Given the description of an element on the screen output the (x, y) to click on. 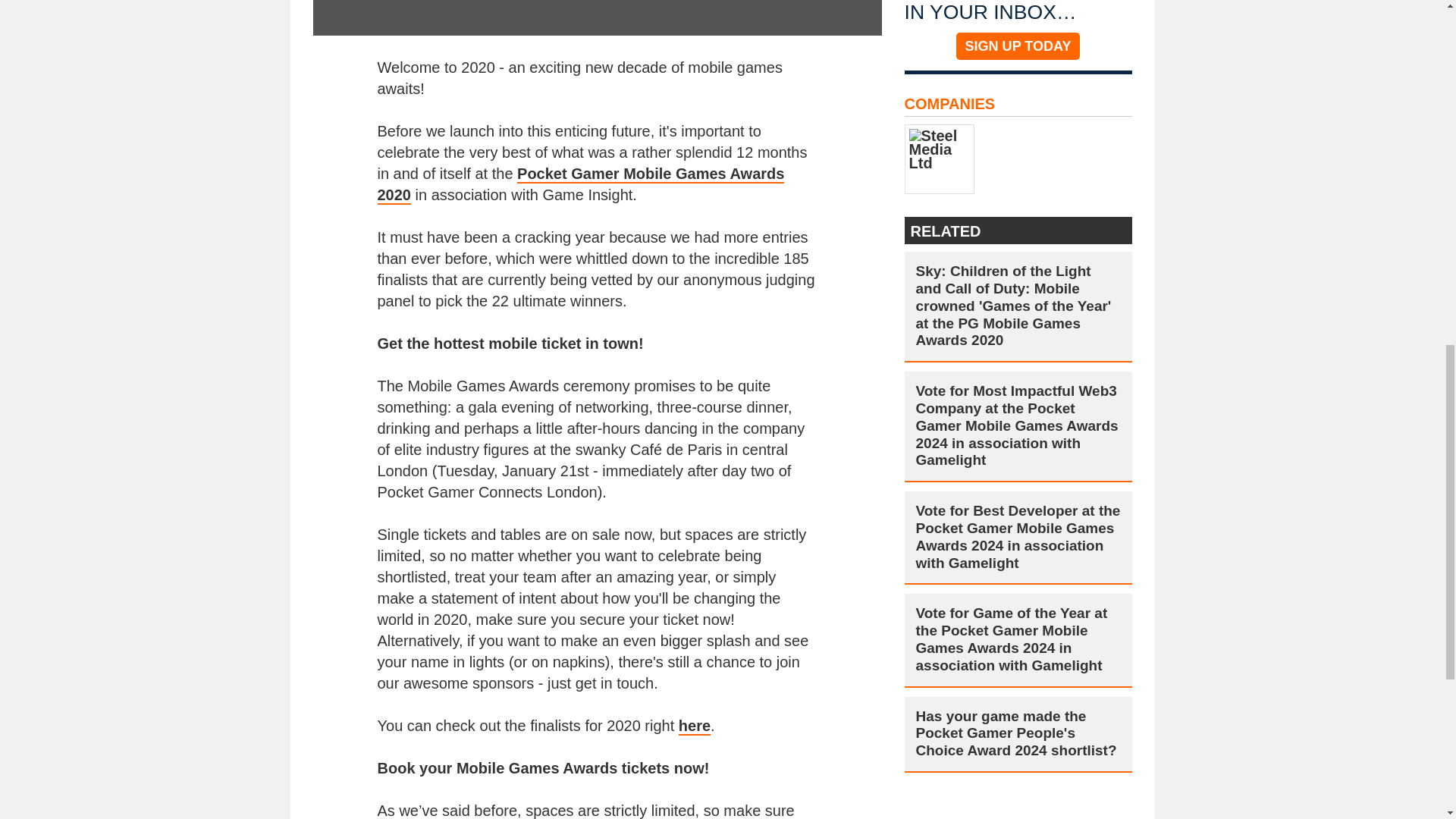
here (694, 726)
Pocket Gamer Mobile Games Awards 2020 (580, 184)
